Given the description of an element on the screen output the (x, y) to click on. 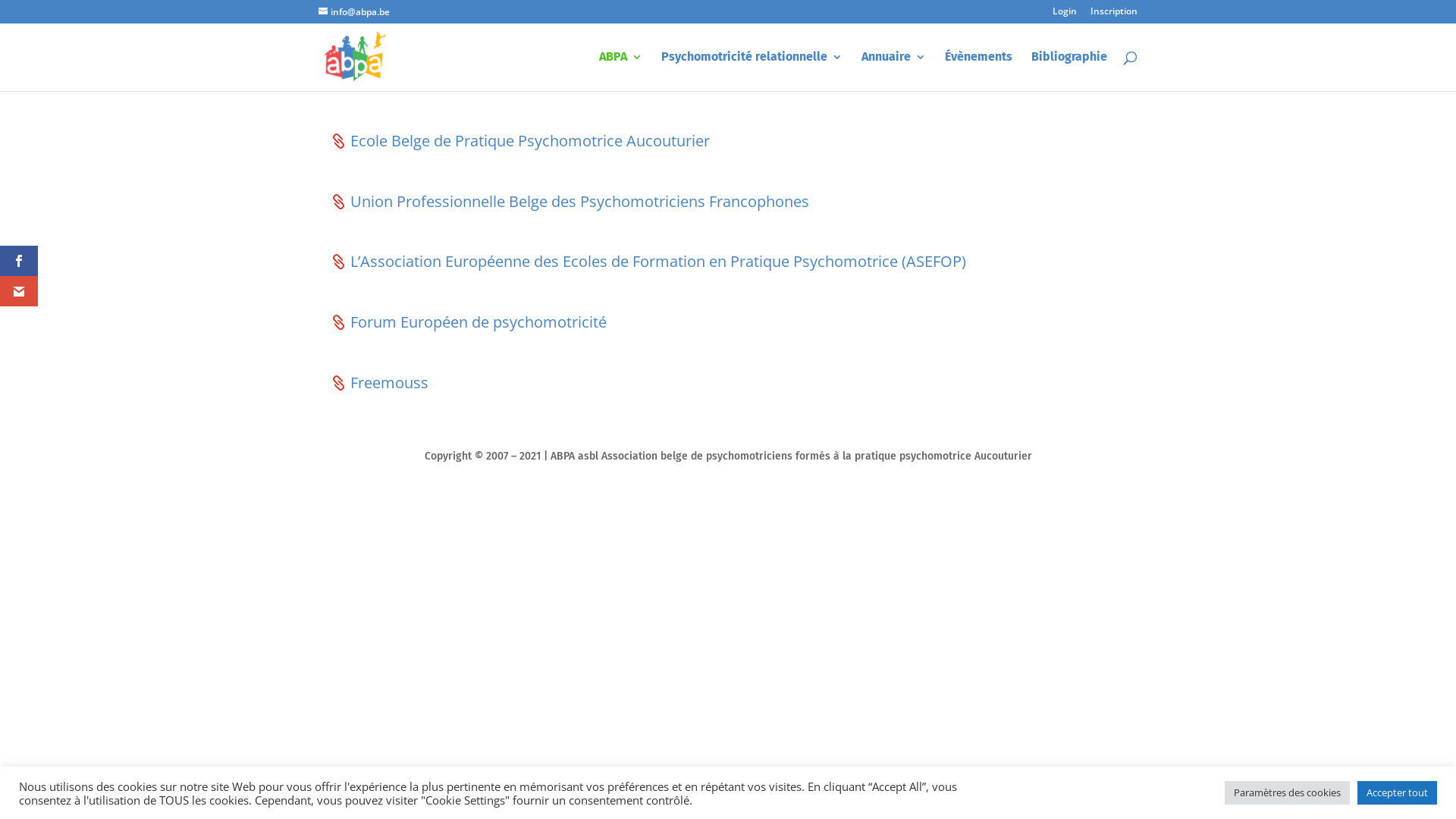
Accepter tout Element type: text (1397, 792)
Ecole Belge de Pratique Psychomotrice Aucouturier Element type: text (519, 141)
Freemouss Element type: text (379, 382)
Inscription Element type: text (1113, 14)
Bibliographie Element type: text (1069, 71)
Login Element type: text (1064, 14)
ABPA Element type: text (620, 71)
Annuaire Element type: text (893, 71)
info@abpa.be Element type: text (353, 11)
